Given the description of an element on the screen output the (x, y) to click on. 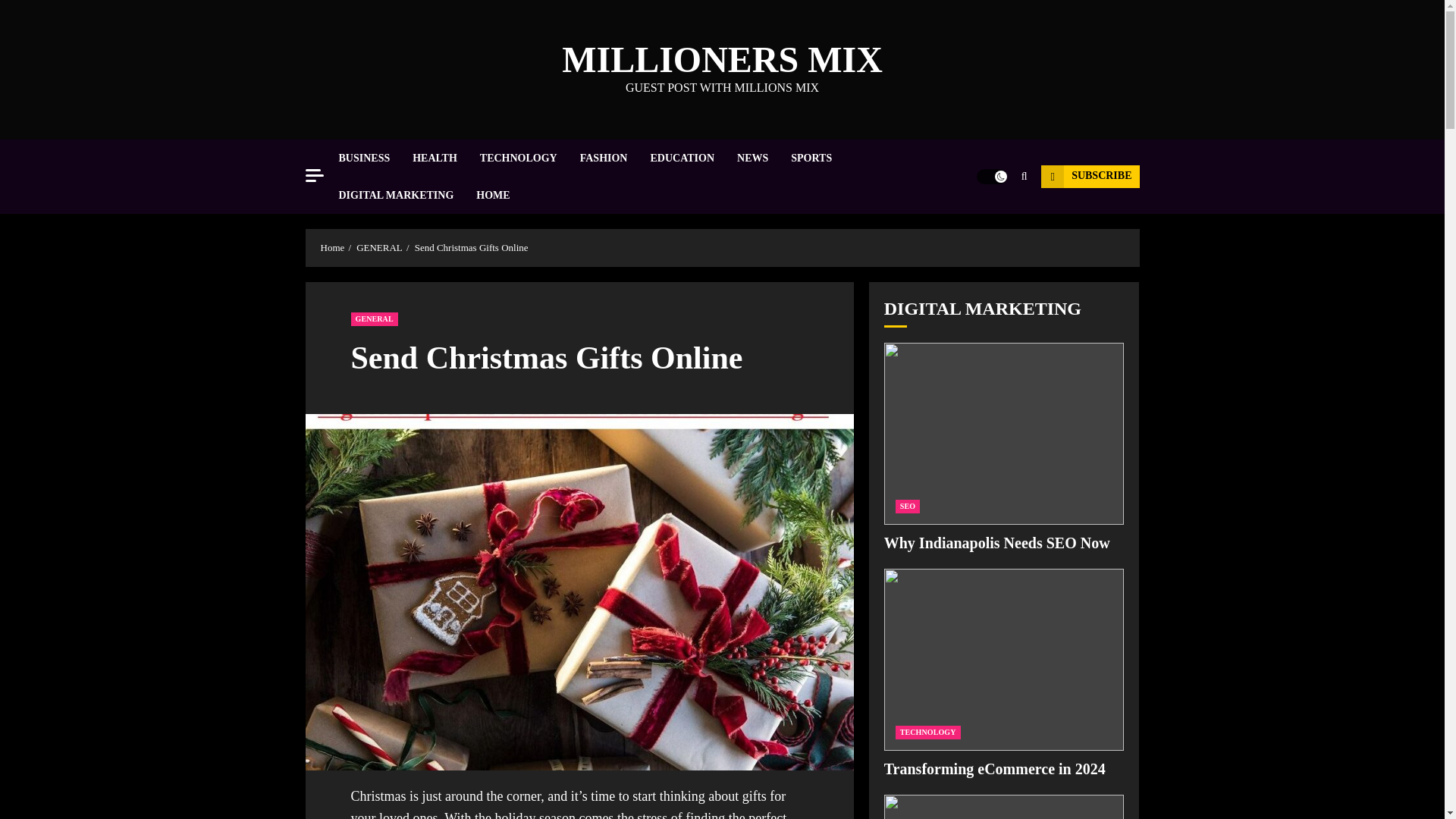
FASHION (614, 157)
NEWS (763, 157)
TECHNOLOGY (529, 157)
DIGITAL MARKETING (406, 194)
EDUCATION (692, 157)
MILLIONERS MIX (722, 59)
SPORTS (822, 157)
HEALTH (446, 157)
BUSINESS (374, 157)
